Given the description of an element on the screen output the (x, y) to click on. 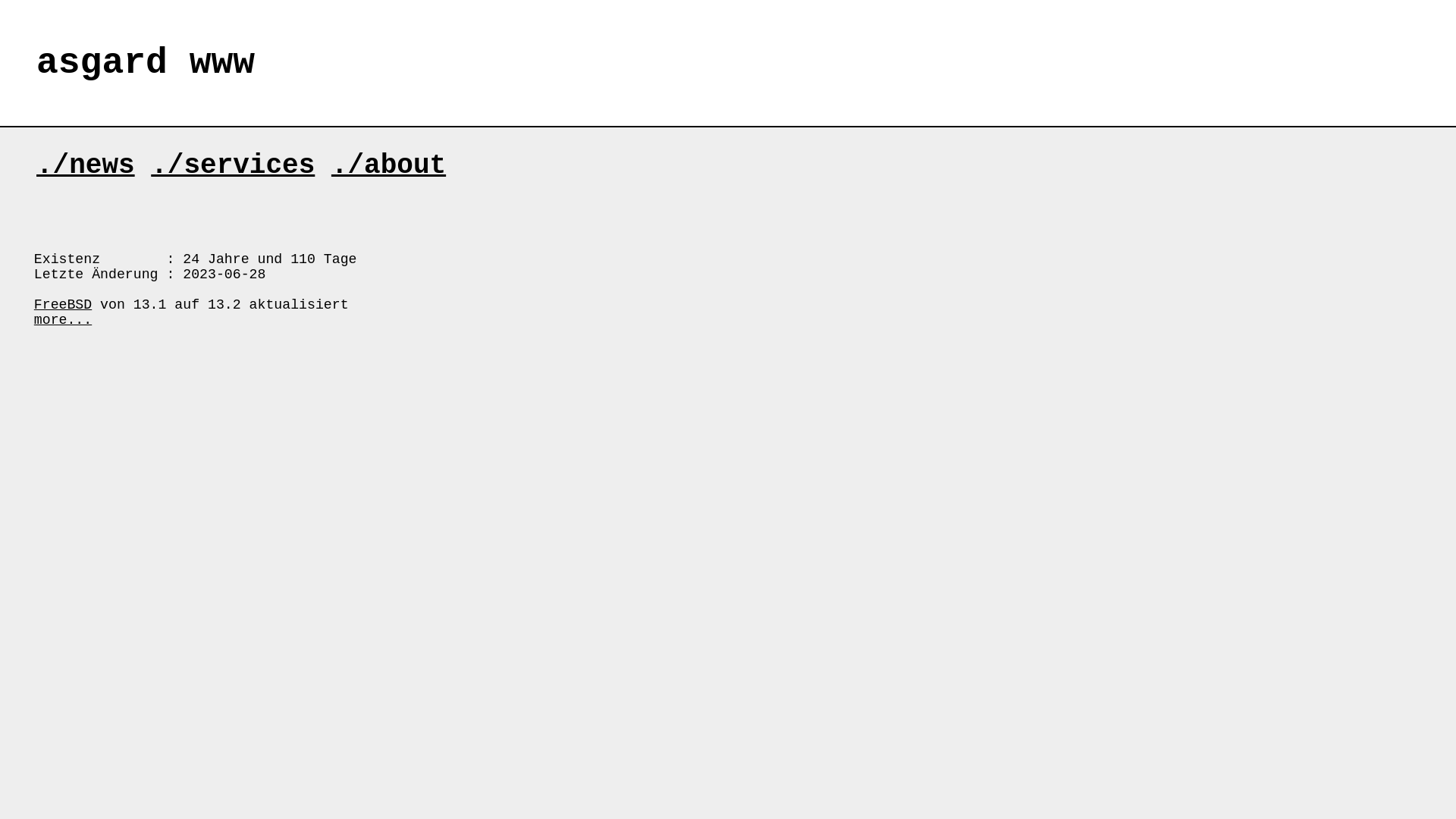
more... Element type: text (62, 319)
./about Element type: text (388, 165)
./news Element type: text (85, 165)
./services Element type: text (232, 165)
asgard Element type: text (101, 62)
FreeBSD Element type: text (62, 304)
